Given the description of an element on the screen output the (x, y) to click on. 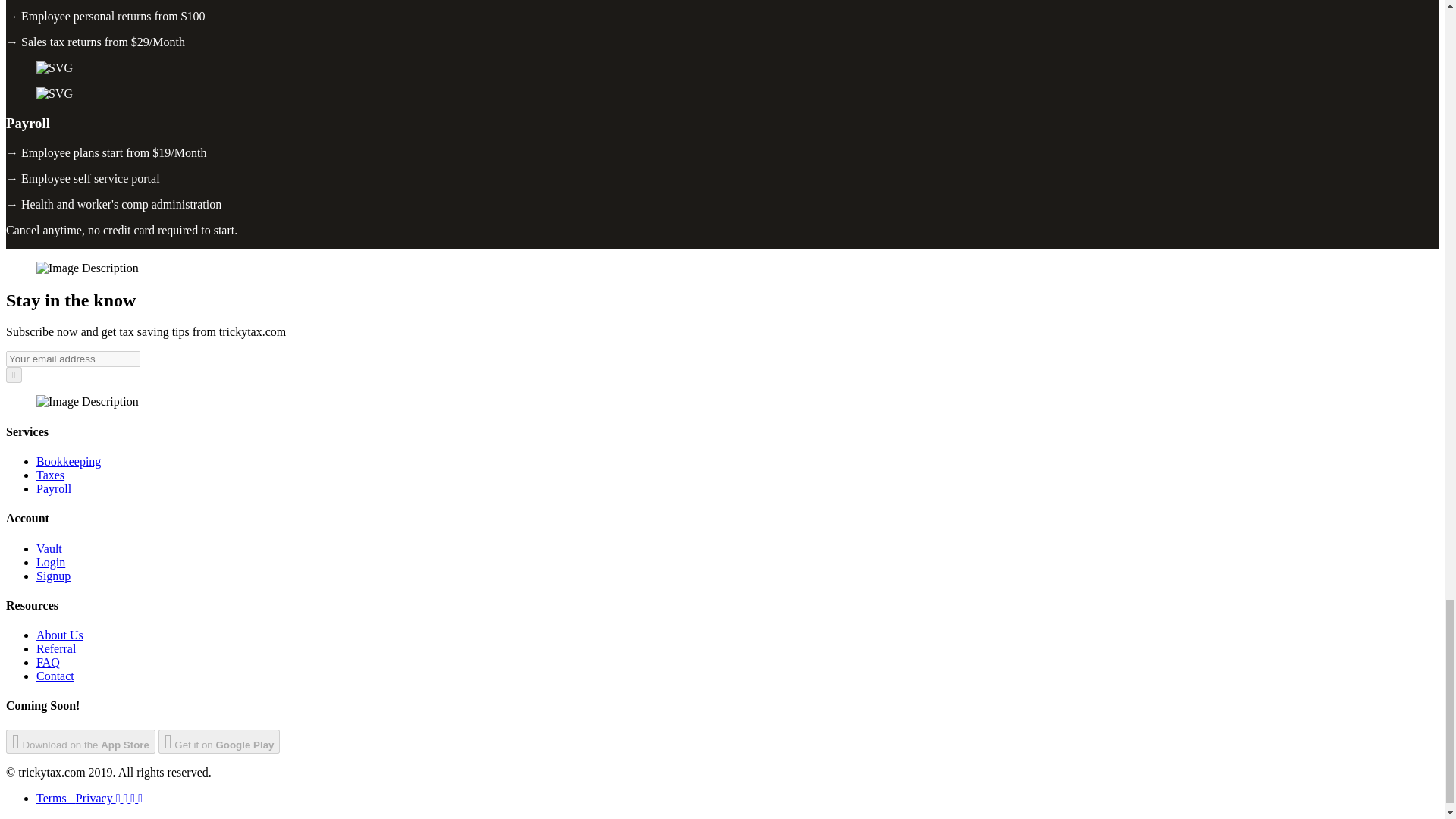
Login (50, 562)
Get it on Google Play (219, 741)
Signup (52, 575)
Taxes (50, 474)
Bookkeeping (68, 461)
Vault (49, 548)
Referral (55, 648)
Contact (55, 675)
About Us (59, 634)
Download on the App Store (80, 741)
